Given the description of an element on the screen output the (x, y) to click on. 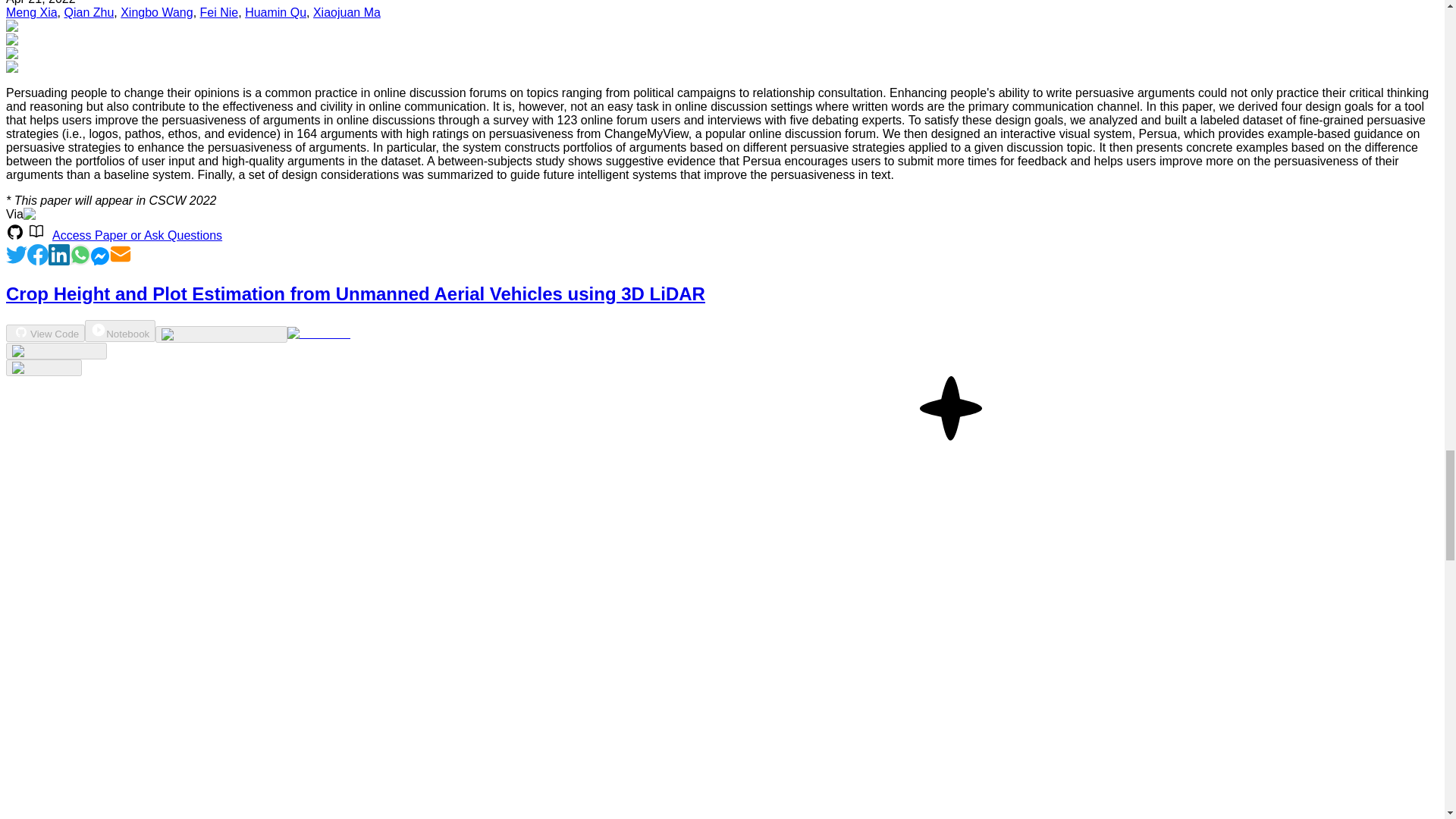
Share via Email (120, 260)
Send via Messenger (99, 260)
